Given the description of an element on the screen output the (x, y) to click on. 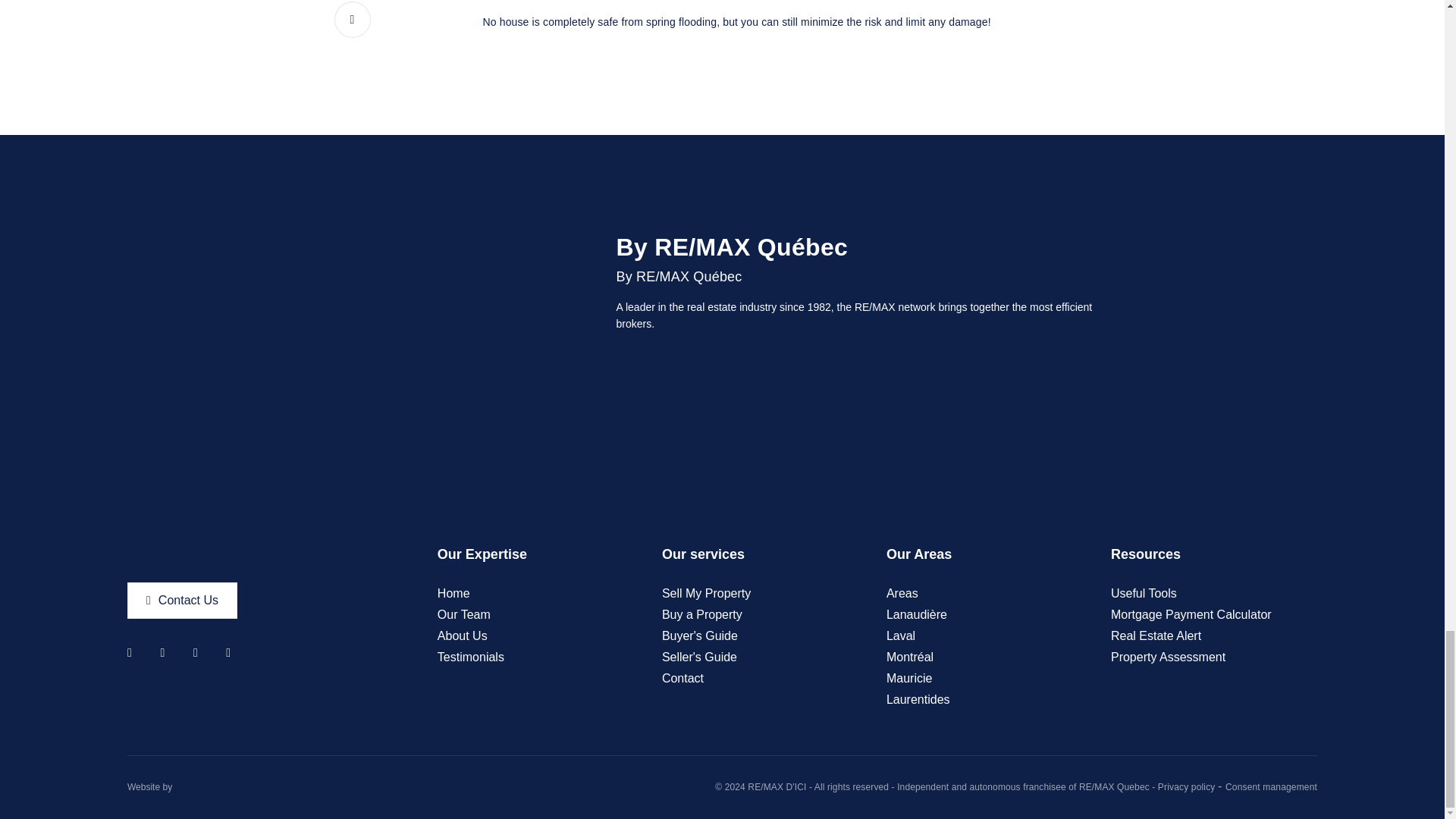
Home (454, 593)
Privacy policy (1187, 787)
Property Assessment (1167, 657)
Laval (900, 635)
Laurentides (918, 699)
Contact (682, 678)
Mortgage Payment Calculator (1190, 614)
Areas (902, 593)
Contact Us (182, 600)
Real Estate Alert (1155, 635)
About Us (462, 635)
Seller's Guide (699, 657)
Mauricie (908, 678)
Buyer's Guide (700, 635)
Website by (149, 786)
